Given the description of an element on the screen output the (x, y) to click on. 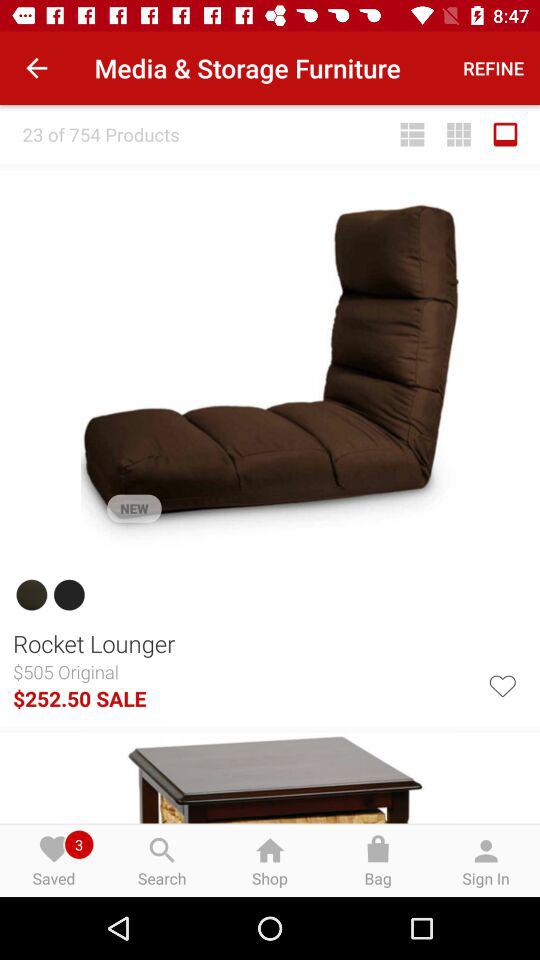
press the icon to the right of media & storage furniture icon (493, 67)
